Given the description of an element on the screen output the (x, y) to click on. 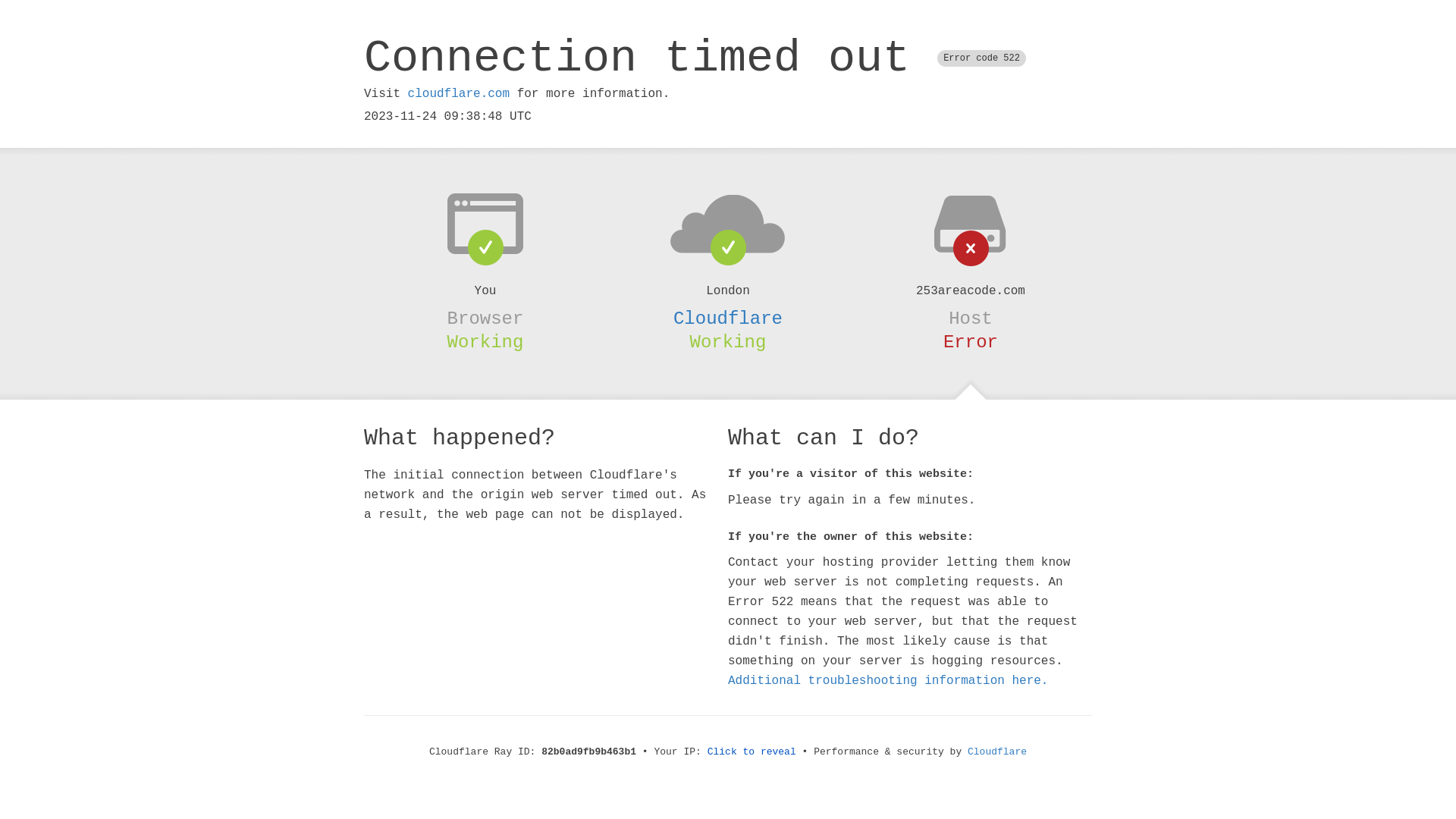
Additional troubleshooting information here. Element type: text (888, 680)
Cloudflare Element type: text (996, 751)
Click to reveal Element type: text (751, 751)
Cloudflare Element type: text (727, 318)
cloudflare.com Element type: text (458, 93)
